Given the description of an element on the screen output the (x, y) to click on. 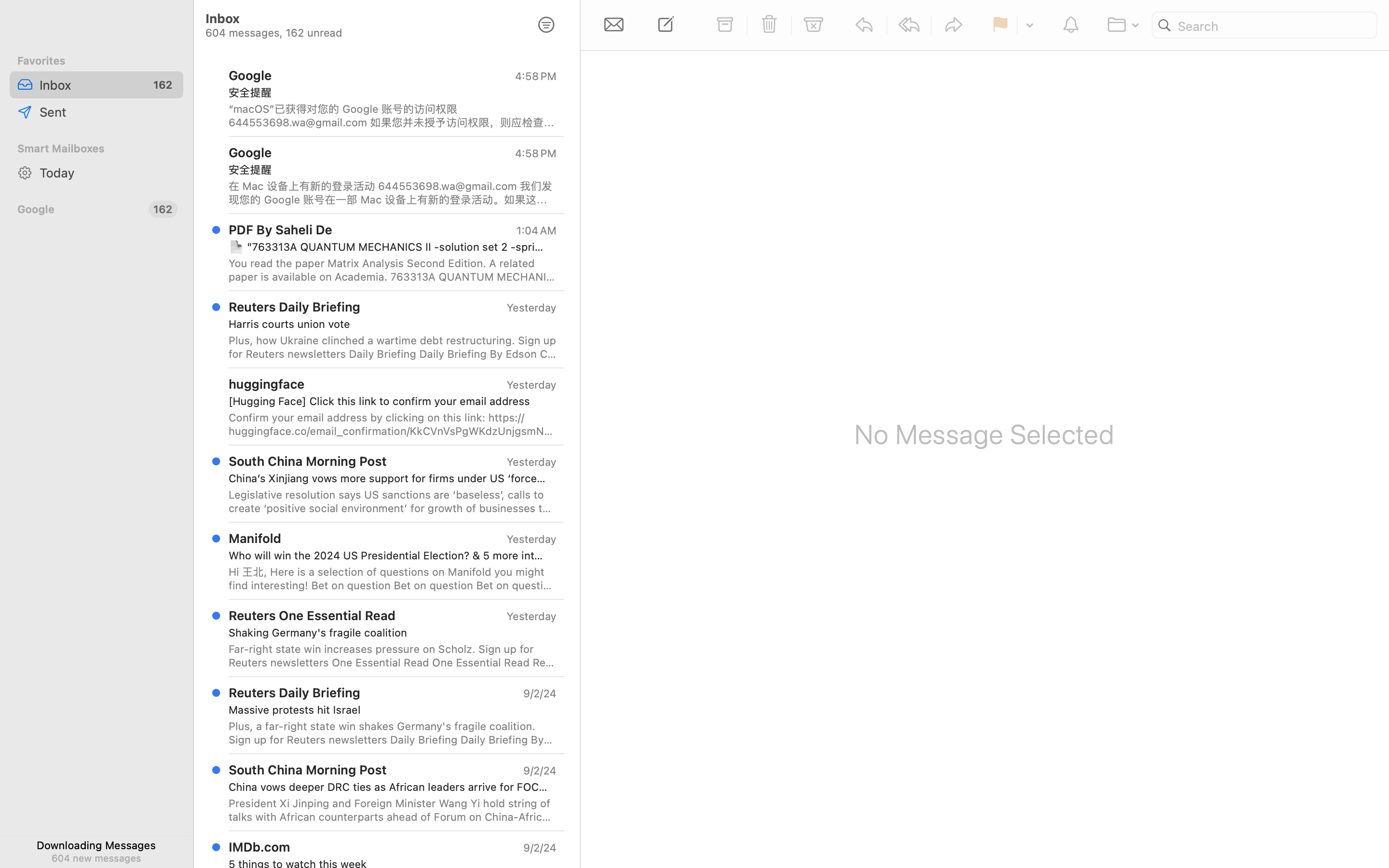
Confirm your email address by clicking on this link: https://huggingface.co/email_confirmation/KkCVnVsPgWKdzUnjgsmNfQwgnwKH If you didn't create a Hugging Face account, you can ignore this email. Hugging Face: The AI community building the future. Element type: AXStaticText (392, 423)
安全提醒 Element type: AXStaticText (388, 92)
4:58 PM Element type: AXStaticText (535, 75)
Downloading Messages Element type: AXStaticText (96, 844)
huggingface Element type: AXStaticText (266, 383)
